Given the description of an element on the screen output the (x, y) to click on. 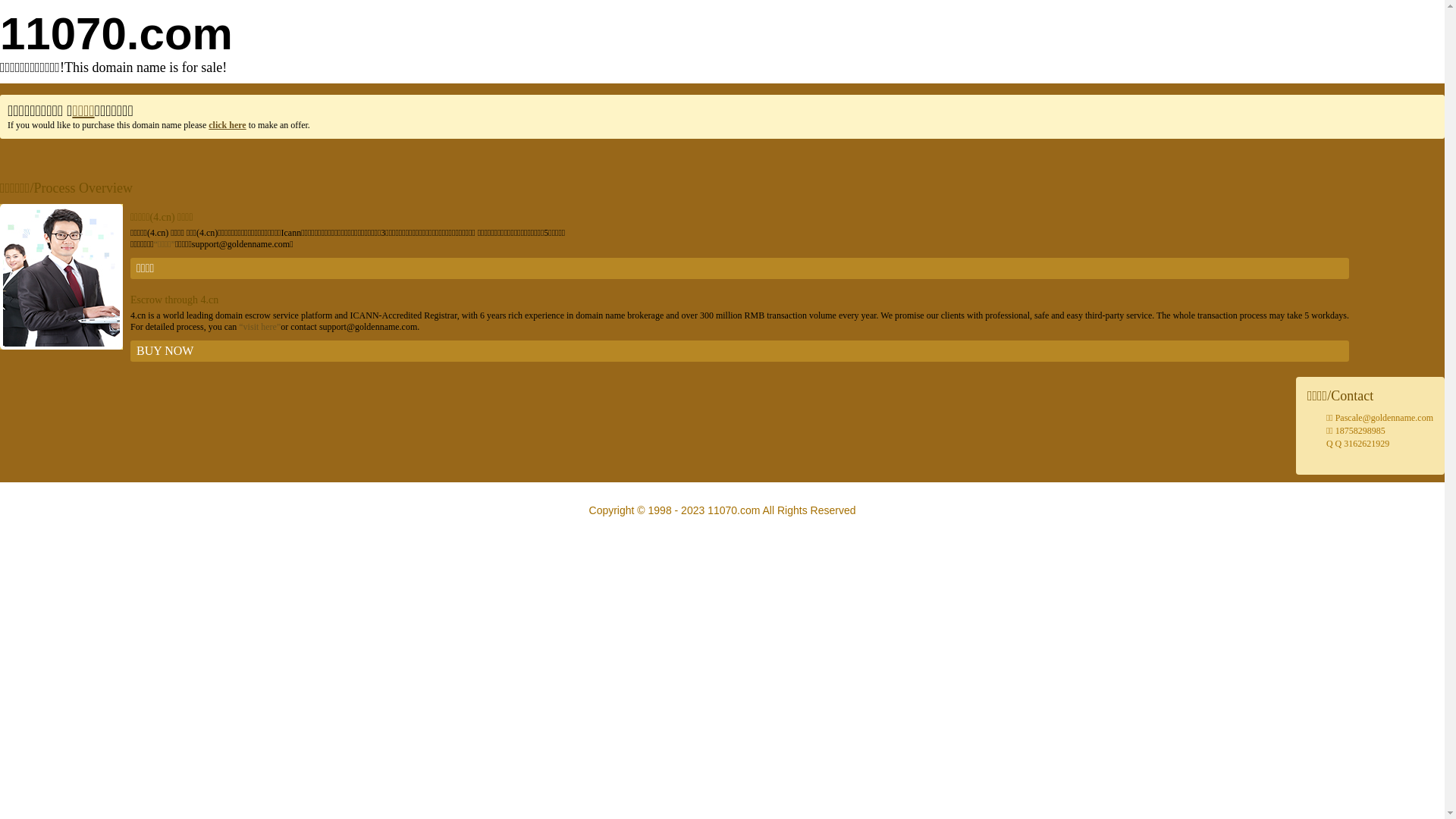
BUY NOW Element type: text (739, 350)
click here Element type: text (226, 124)
